Given the description of an element on the screen output the (x, y) to click on. 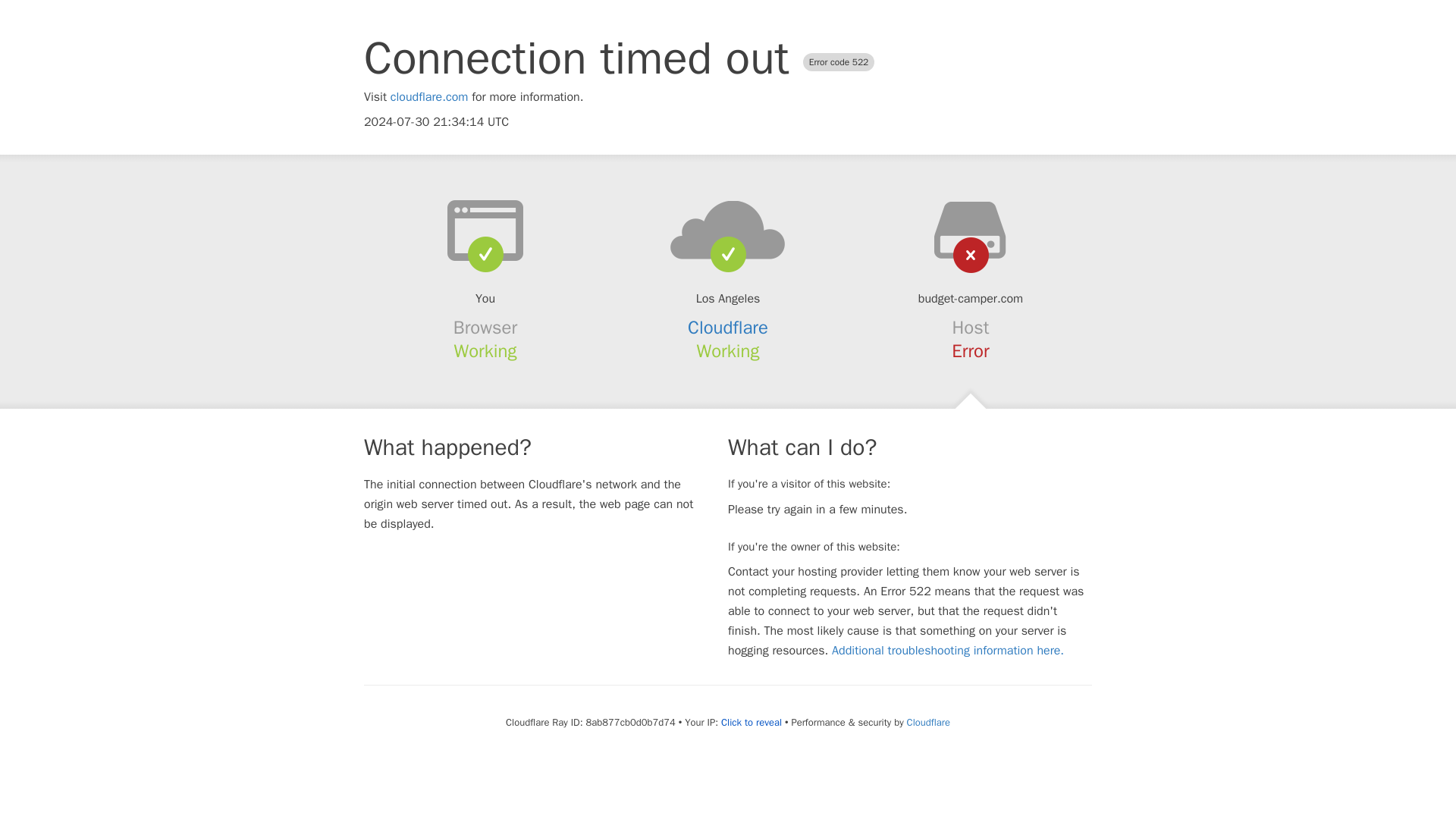
Cloudflare (928, 721)
Cloudflare (727, 327)
Click to reveal (750, 722)
Additional troubleshooting information here. (947, 650)
cloudflare.com (429, 96)
